Given the description of an element on the screen output the (x, y) to click on. 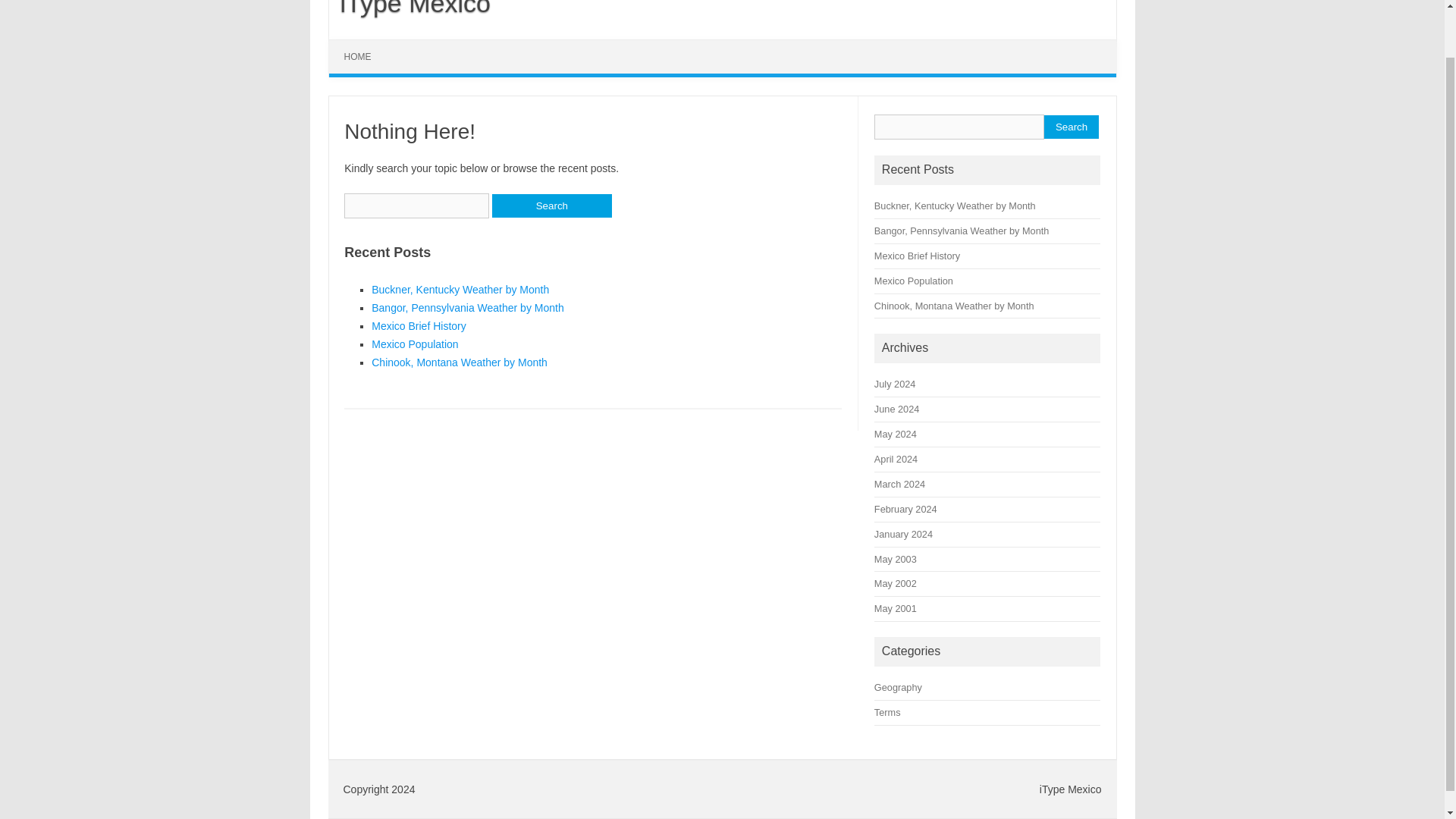
Mexico Brief History (418, 326)
Buckner, Kentucky Weather by Month (459, 289)
Geography (898, 686)
Mexico Population (414, 344)
Chinook, Montana Weather by Month (954, 305)
May 2024 (896, 433)
Terms (888, 712)
Search (1070, 126)
Buckner, Kentucky Weather by Month (955, 205)
May 2003 (896, 559)
April 2024 (896, 459)
Bangor, Pennsylvania Weather by Month (467, 307)
June 2024 (896, 408)
HOME (358, 56)
Mexico Population (914, 280)
